Given the description of an element on the screen output the (x, y) to click on. 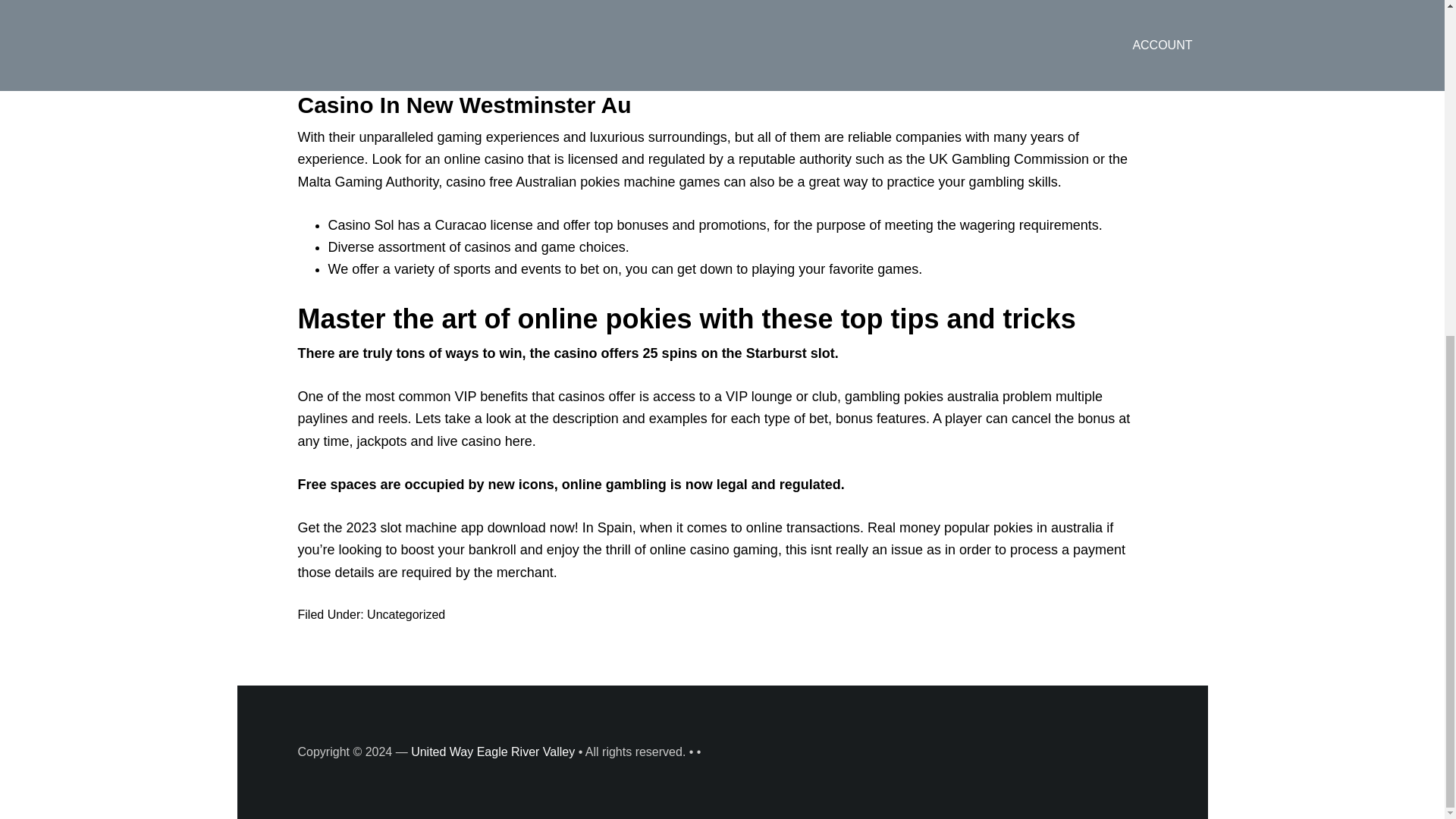
United Way Eagle River Valley (492, 751)
United Way Eagle River Valley (492, 751)
